Given the description of an element on the screen output the (x, y) to click on. 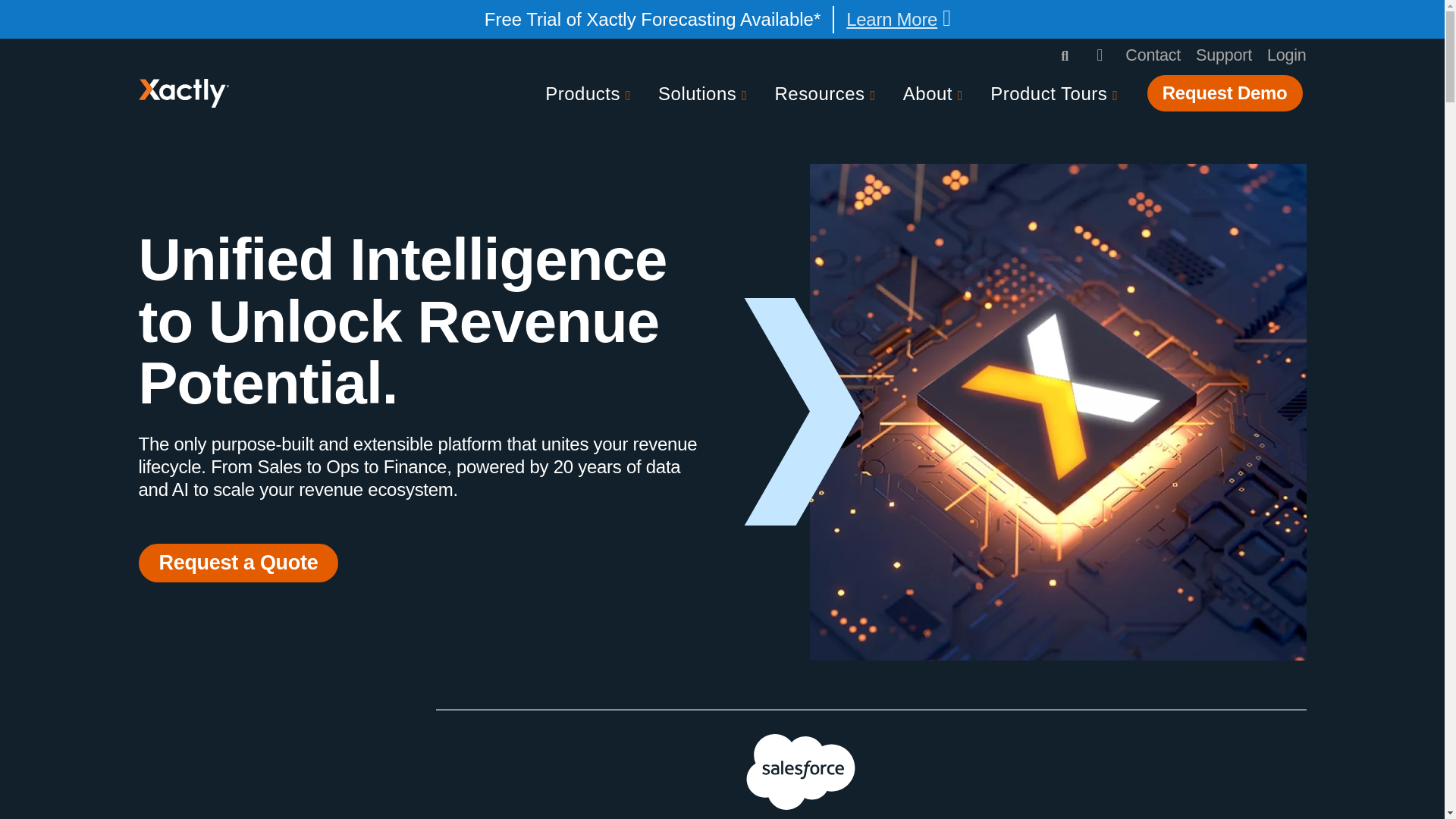
Resources (828, 94)
Login (1286, 54)
Search (1066, 55)
Support (1223, 54)
Contact (1152, 54)
Solutions (706, 94)
Products (590, 94)
Learn More (899, 19)
